Given the description of an element on the screen output the (x, y) to click on. 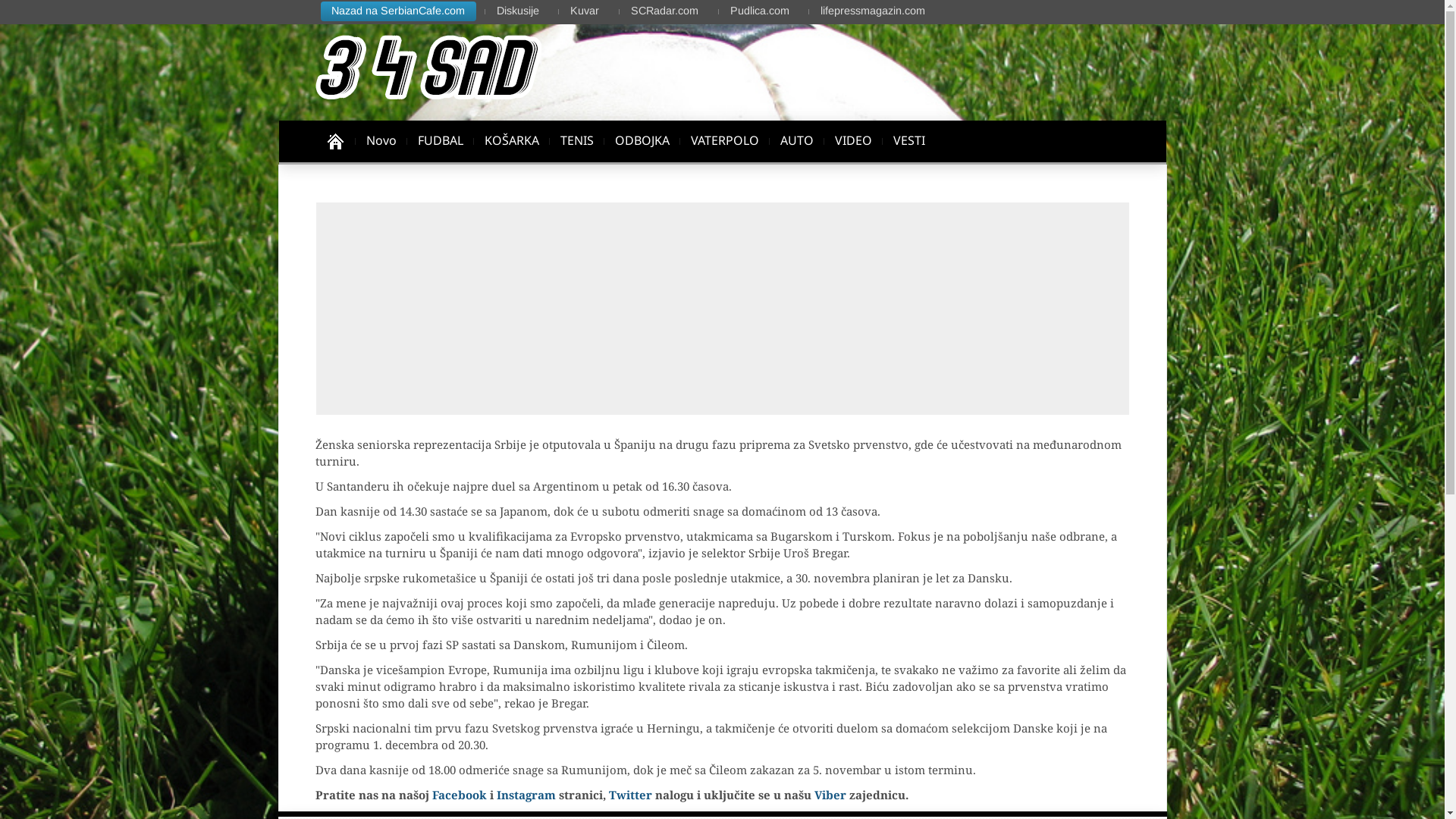
Kuvar Element type: text (584, 10)
lifepressmagazin.com Element type: text (872, 10)
Pudlica.com Element type: text (759, 10)
Twitter Element type: text (629, 794)
Facebook Element type: text (459, 794)
TENIS Element type: text (576, 141)
SCRadar.com Element type: text (664, 10)
FUDBAL Element type: text (439, 141)
Diskusije Element type: text (517, 10)
34sad Element type: hover (335, 141)
Instagram Element type: text (525, 794)
Viber Element type: text (830, 794)
AUTO Element type: text (795, 141)
Novo Element type: text (380, 141)
ODBOJKA Element type: text (641, 141)
Nazad na SerbianCafe.com Element type: text (403, 10)
Advertisement Element type: hover (721, 308)
VIDEO Element type: text (852, 141)
VATERPOLO Element type: text (723, 141)
VESTI Element type: text (908, 141)
